Given the description of an element on the screen output the (x, y) to click on. 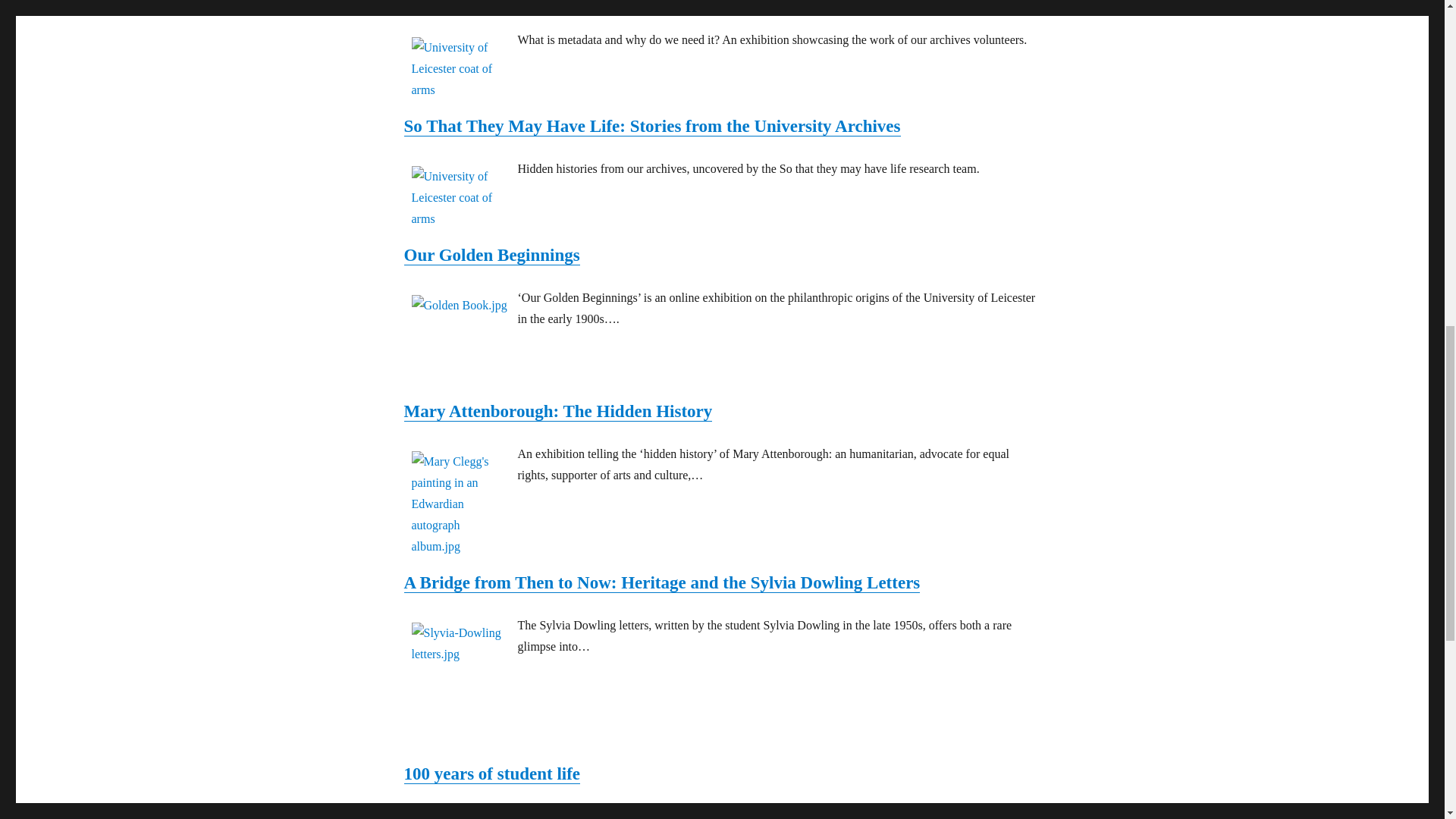
Slyvia-Dowling letters.jpg (459, 643)
Mary Clegg's painting in an Edwardian autograph album.jpg (459, 504)
Golden Book.jpg (459, 305)
100 years of student life (491, 773)
University of Leicester coat of arms (459, 197)
University of Leicester coat of arms (459, 68)
